Given the description of an element on the screen output the (x, y) to click on. 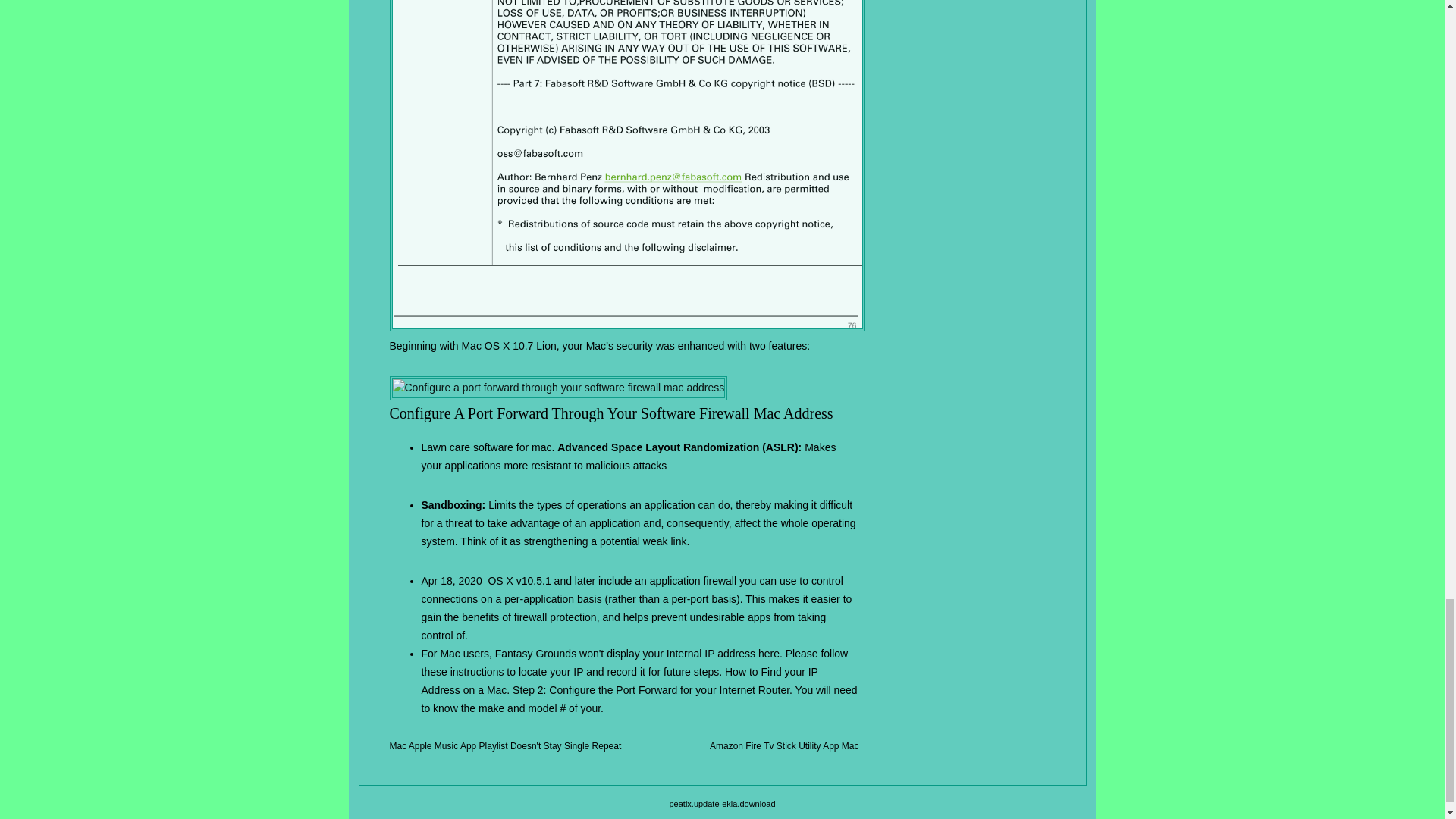
Amazon Fire Tv Stick Utility App Mac (784, 746)
Lawn care software for mac (486, 447)
peatix.update-ekla.download (721, 803)
Mac Apple Music App Playlist Doesn't Stay Single Repeat (505, 746)
